Given the description of an element on the screen output the (x, y) to click on. 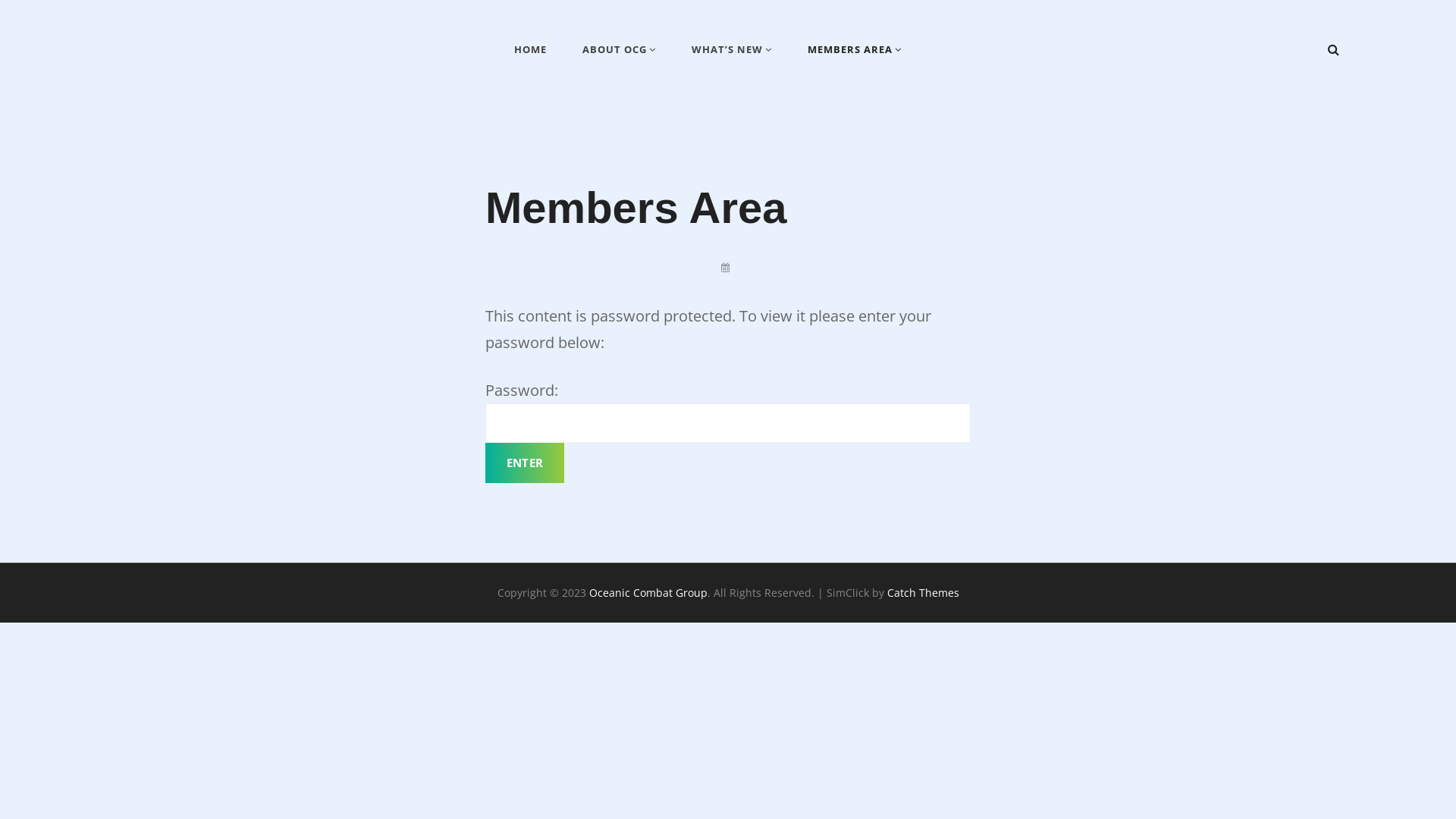
HOME Element type: text (530, 48)
OCEANIC COMBAT GROUP Element type: text (237, 63)
ABOUT OCG Element type: text (618, 49)
MEMBERS AREA Element type: text (854, 49)
Oceanic Combat Group Element type: text (647, 592)
SEARCH Element type: text (1333, 49)
Enter Element type: text (524, 462)
Catch Themes Element type: text (923, 592)
